Given the description of an element on the screen output the (x, y) to click on. 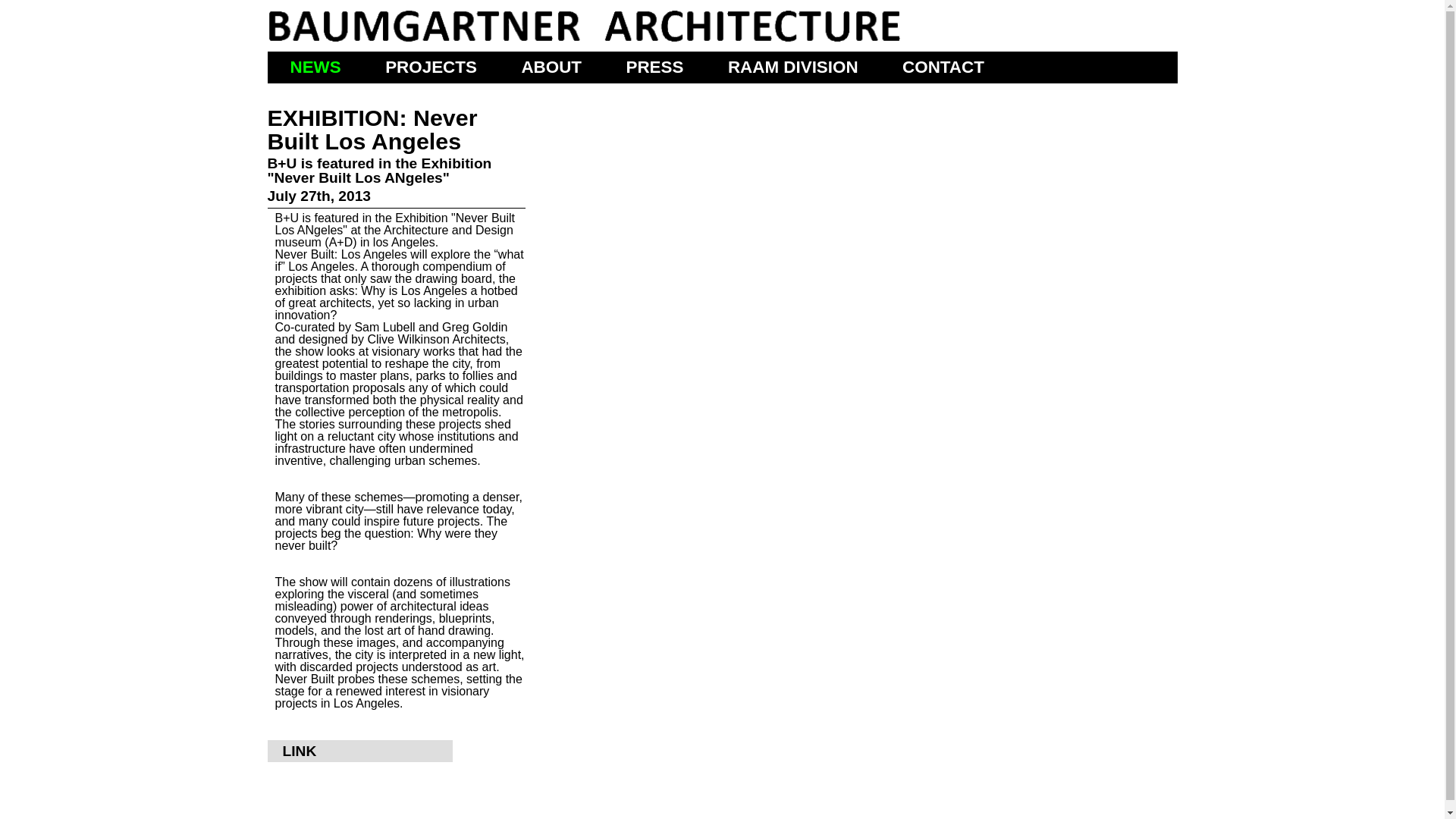
LINK (298, 750)
ABOUT (550, 66)
PROJECTS (431, 66)
RAAM DIVISION (793, 66)
PRESS (655, 66)
CONTACT (943, 66)
NEWS (314, 66)
